Given the description of an element on the screen output the (x, y) to click on. 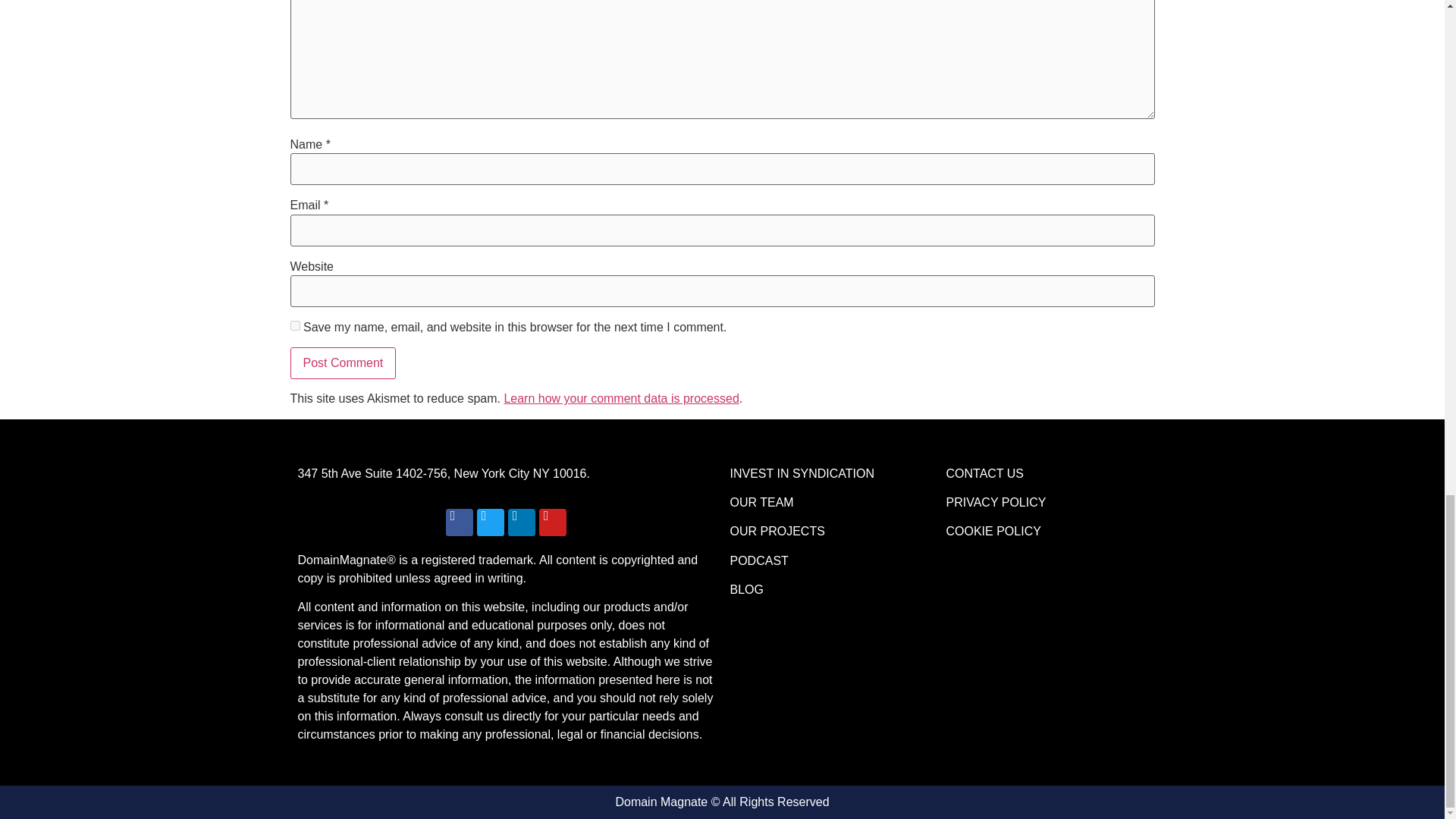
CONTACT US (985, 472)
Learn how your comment data is processed (620, 398)
COOKIE POLICY (993, 530)
Post Comment (342, 363)
OUR TEAM (761, 502)
BLOG (745, 589)
INVEST IN SYNDICATION (802, 472)
yes (294, 325)
PRIVACY POLICY (996, 502)
OUR PROJECTS (776, 530)
